Given the description of an element on the screen output the (x, y) to click on. 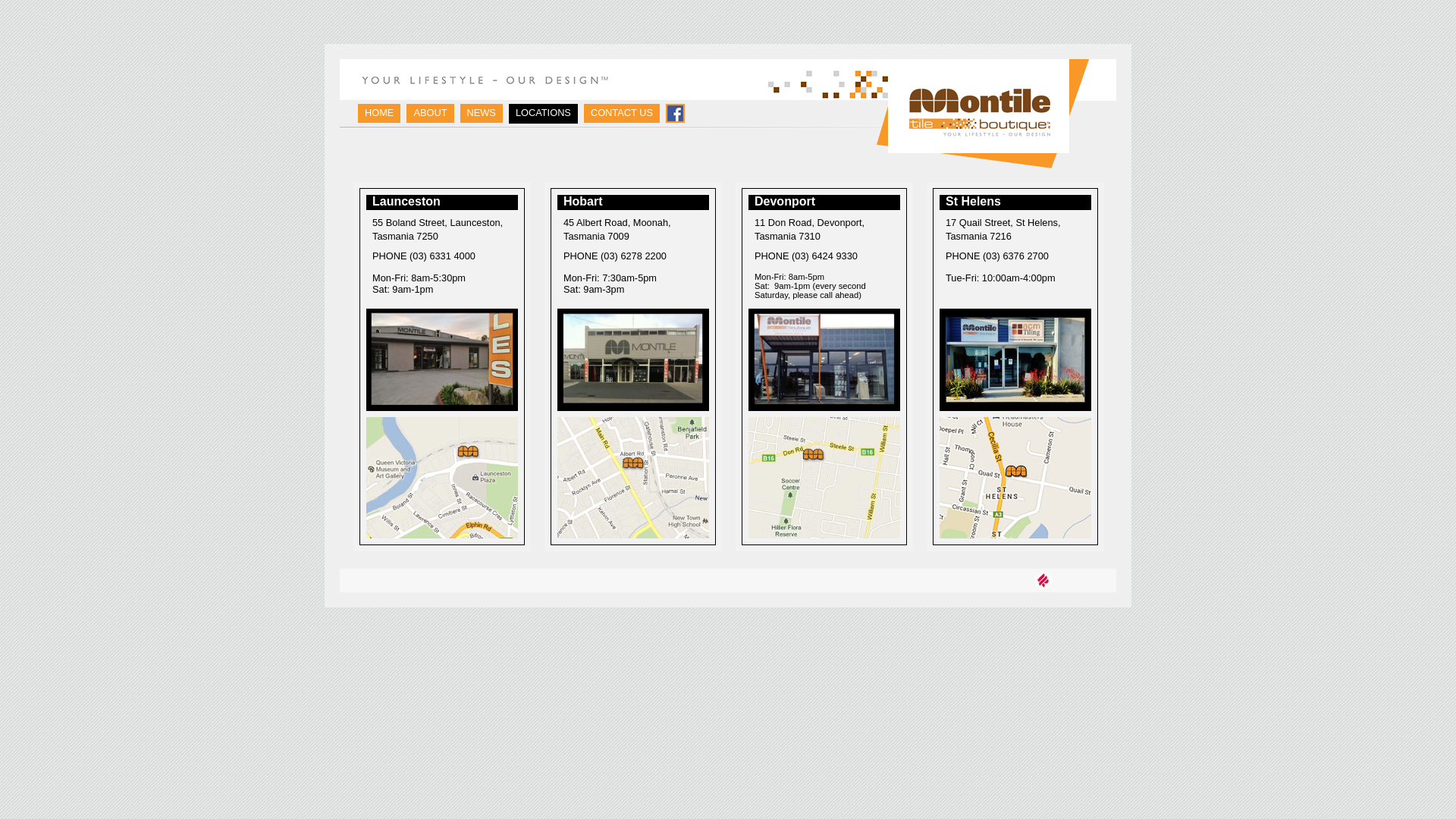
HOME Element type: text (378, 113)
LOCATIONS Element type: text (542, 113)
ABOUT Element type: text (429, 113)
CONTACT US Element type: text (621, 113)
NEWS Element type: text (480, 113)
Web design by Foot & Playsted Element type: hover (1043, 580)
